Given the description of an element on the screen output the (x, y) to click on. 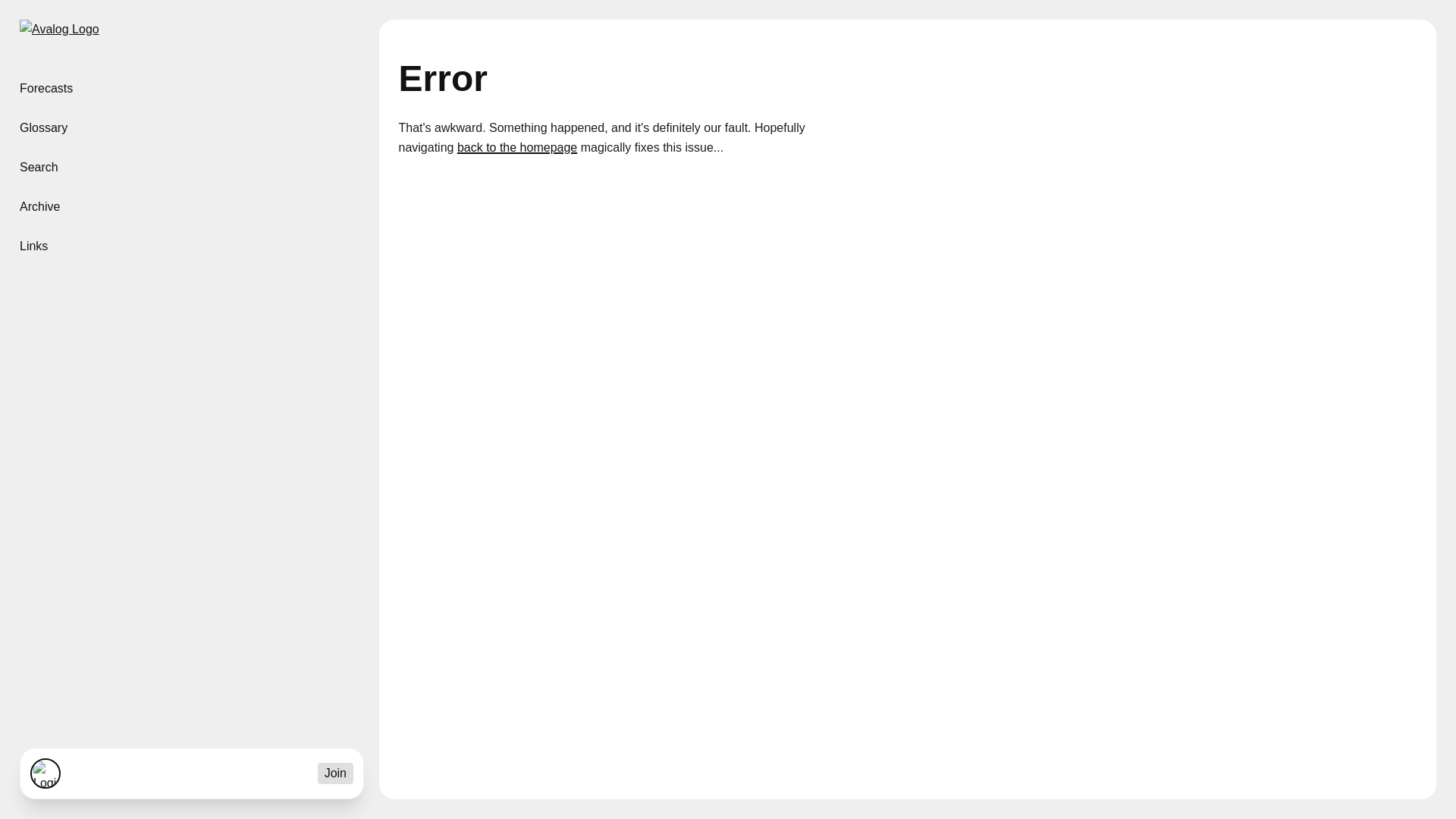
Regions (189, 88)
Links (189, 246)
Glossary (189, 127)
Archive (189, 207)
Register (335, 772)
Archive (189, 207)
back to the homepage (516, 148)
Home (59, 34)
Links (189, 246)
Search (189, 167)
Join (335, 772)
Search (189, 167)
Glossary (189, 127)
Forecasts (189, 88)
